Given the description of an element on the screen output the (x, y) to click on. 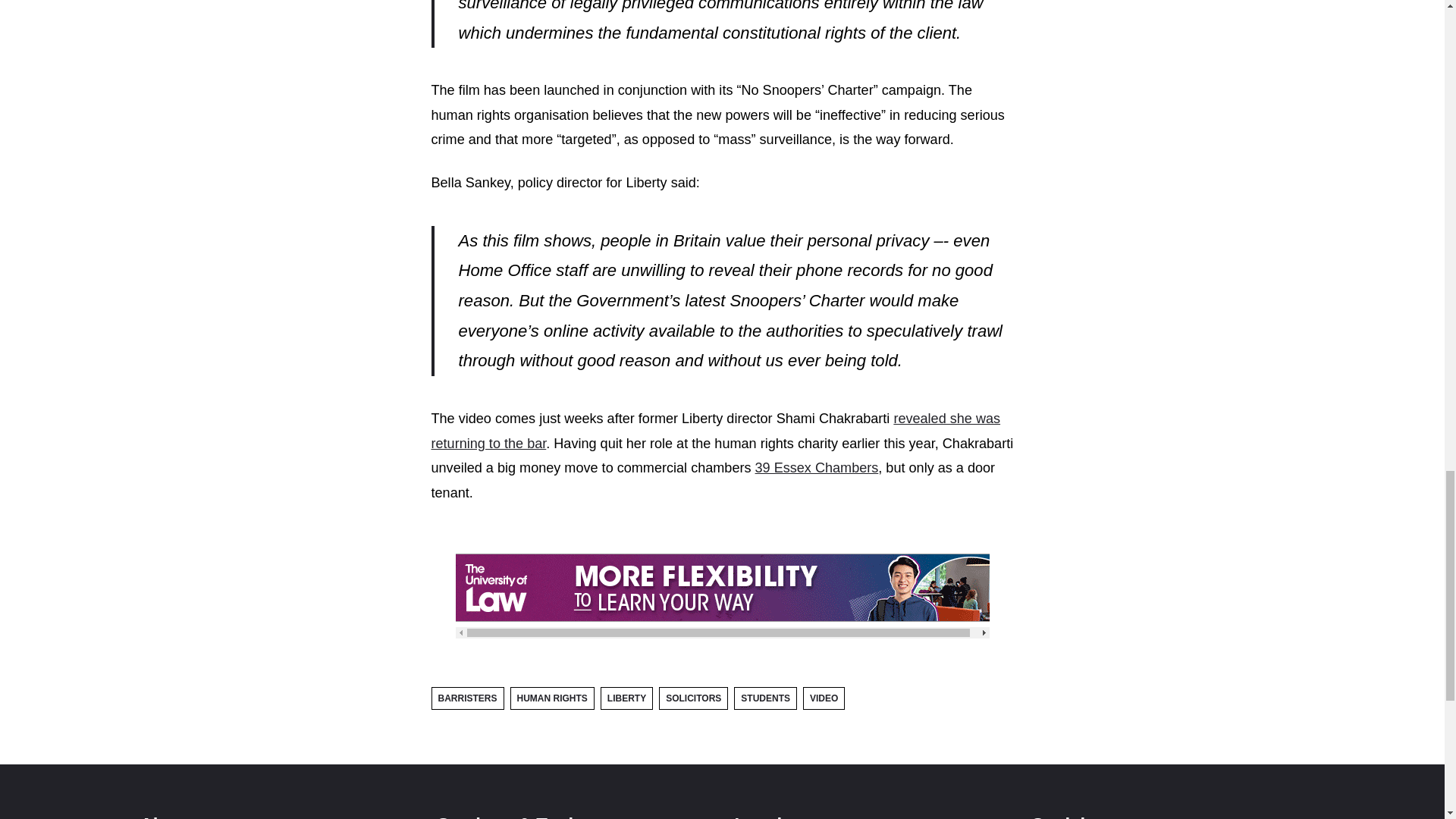
LIBERTY (625, 698)
HUMAN RIGHTS (552, 698)
revealed she was returning to the bar (715, 431)
advertisement (721, 587)
BARRISTERS (466, 698)
39 Essex Chambers (817, 467)
